Given the description of an element on the screen output the (x, y) to click on. 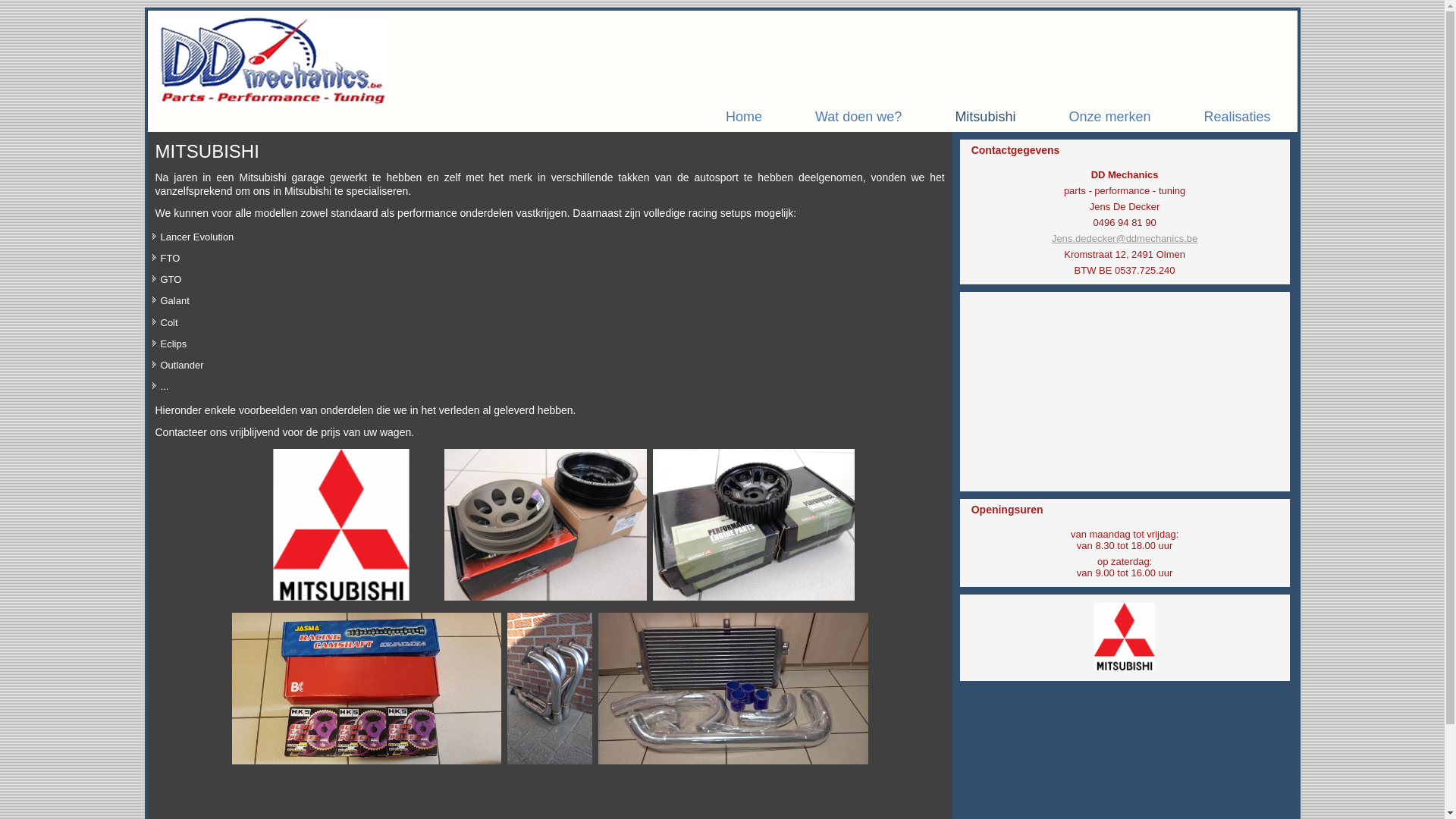
Mitsubishi Element type: text (984, 116)
Home Element type: text (743, 116)
Wat doen we? Element type: text (858, 116)
Realisaties Element type: text (1236, 116)
Jens.dedecker@ddmechanics.be Element type: text (1124, 238)
Onze merken Element type: text (1108, 116)
